Given the description of an element on the screen output the (x, y) to click on. 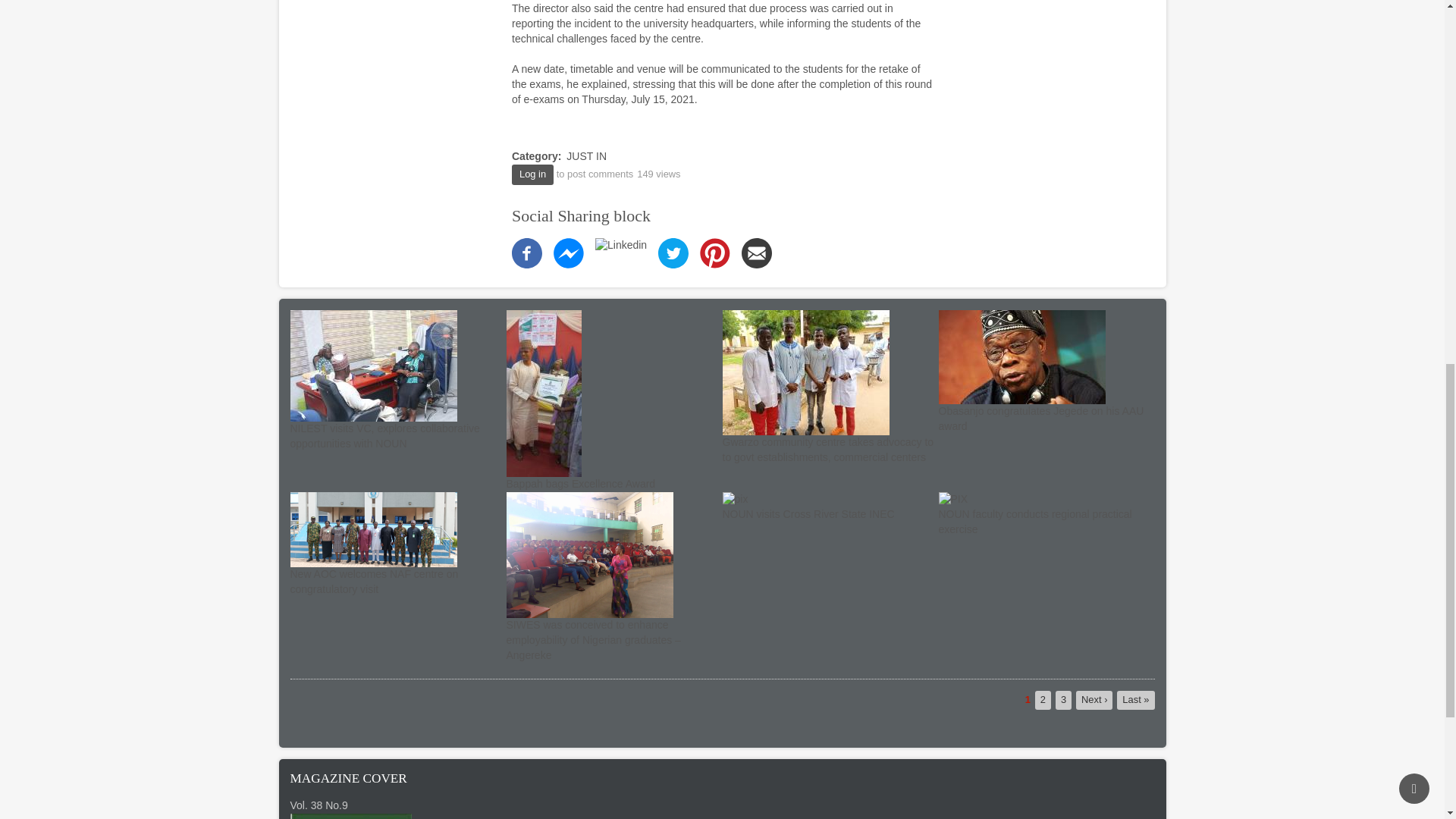
Linkedin (620, 244)
Log in (532, 174)
Facebook (526, 252)
Twitter (673, 252)
Pinterest (715, 252)
Facebook messenger (568, 252)
JUST IN (586, 155)
Email (756, 252)
